Given the description of an element on the screen output the (x, y) to click on. 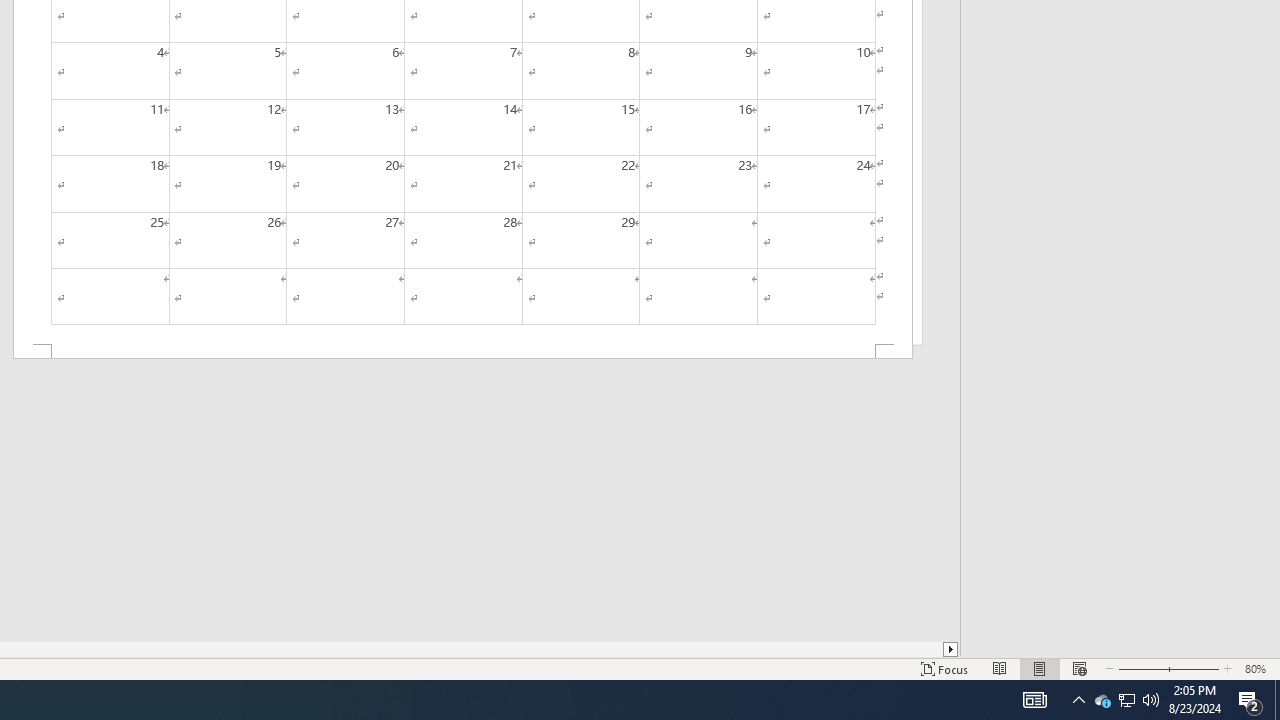
Column right (951, 649)
Footer -Section 2- (462, 351)
